Given the description of an element on the screen output the (x, y) to click on. 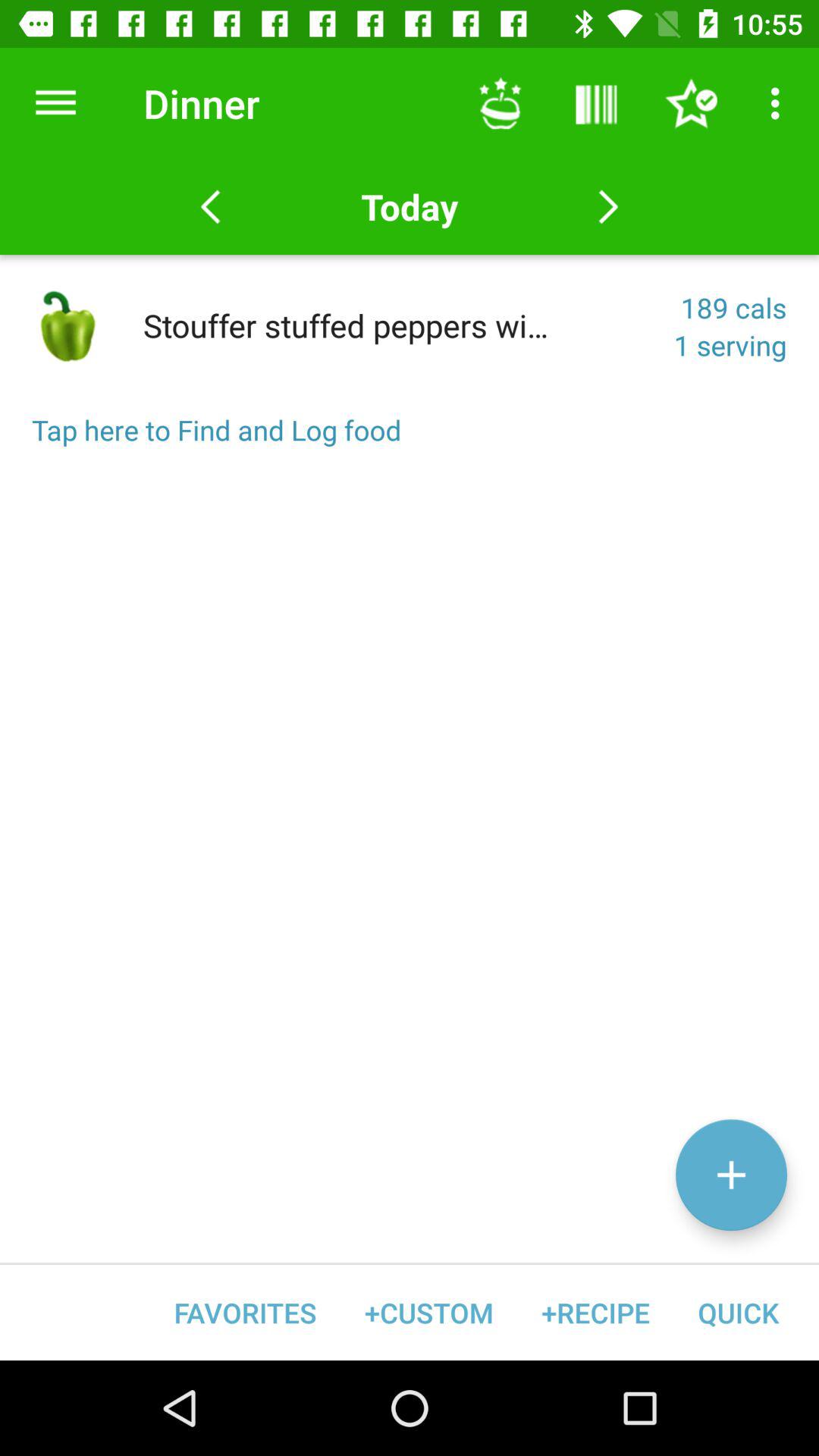
open icon next to the +recipe icon (428, 1312)
